Given the description of an element on the screen output the (x, y) to click on. 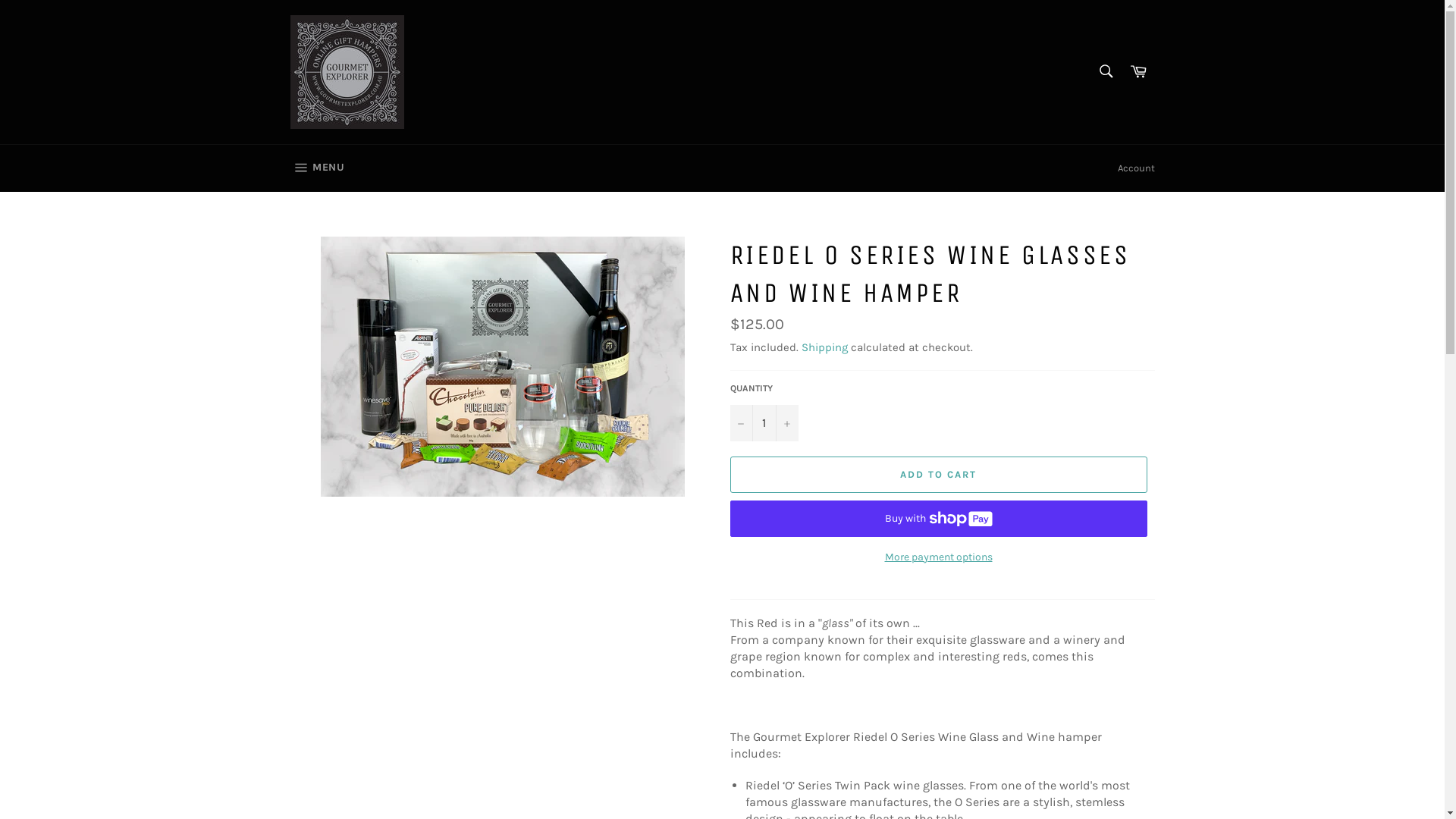
MENU
SITE NAVIGATION Element type: text (316, 167)
Search Element type: text (1105, 70)
Account Element type: text (1136, 168)
More payment options Element type: text (937, 556)
Cart Element type: text (1138, 71)
ADD TO CART Element type: text (937, 474)
Shipping Element type: text (823, 347)
+ Element type: text (786, 422)
